Given the description of an element on the screen output the (x, y) to click on. 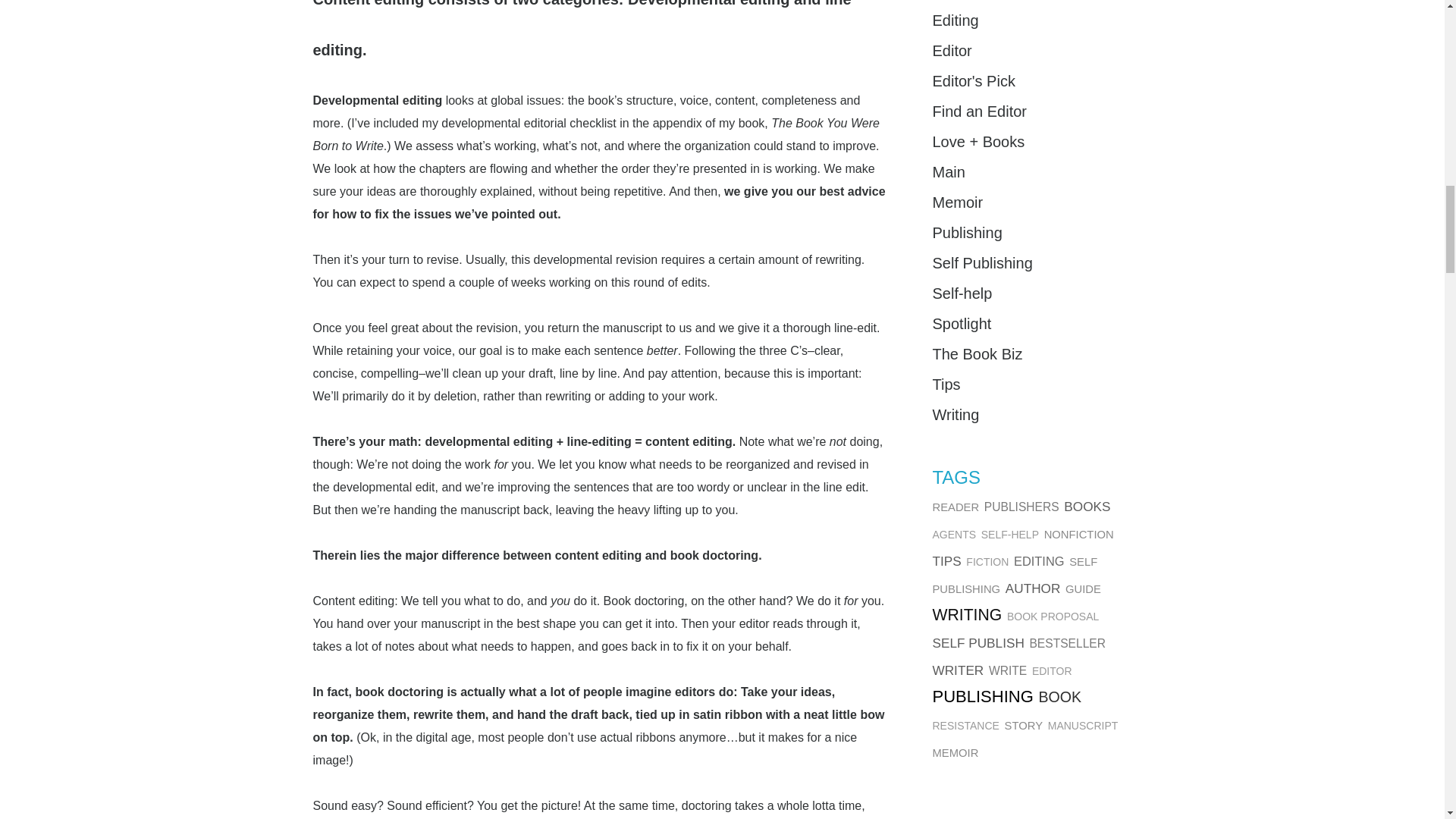
30 topics (1021, 506)
The Book You Were Born to Write (596, 134)
22 topics (954, 506)
48 topics (1086, 506)
